Given the description of an element on the screen output the (x, y) to click on. 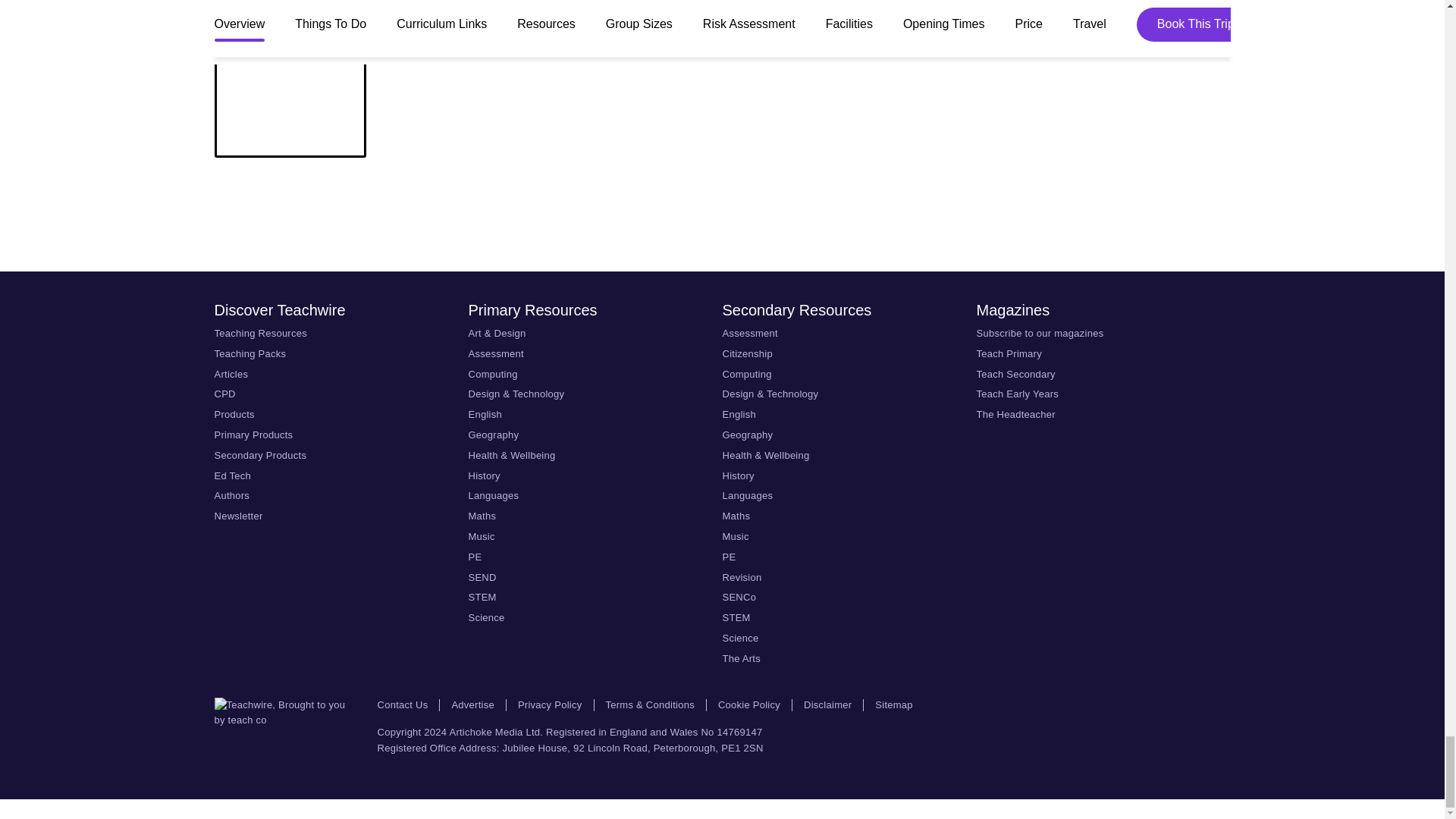
3rd party ad content (721, 214)
